Given the description of an element on the screen output the (x, y) to click on. 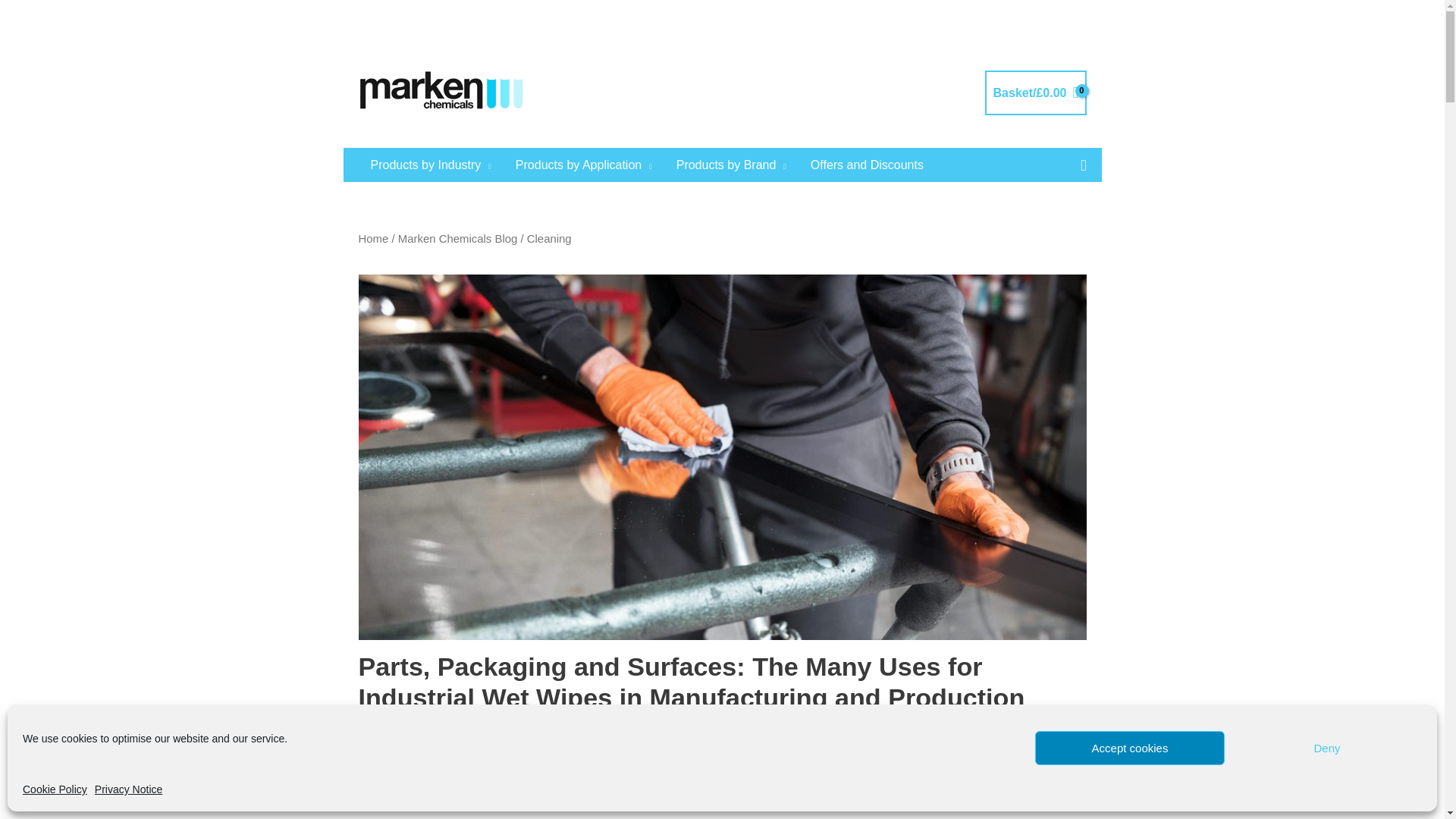
Privacy Notice (127, 790)
Cookie Policy (55, 790)
Accept cookies (1129, 747)
Products by Industry (430, 164)
Deny (1326, 747)
Products by Application (583, 164)
View all posts by Ken Thistlewaite (417, 732)
